Given the description of an element on the screen output the (x, y) to click on. 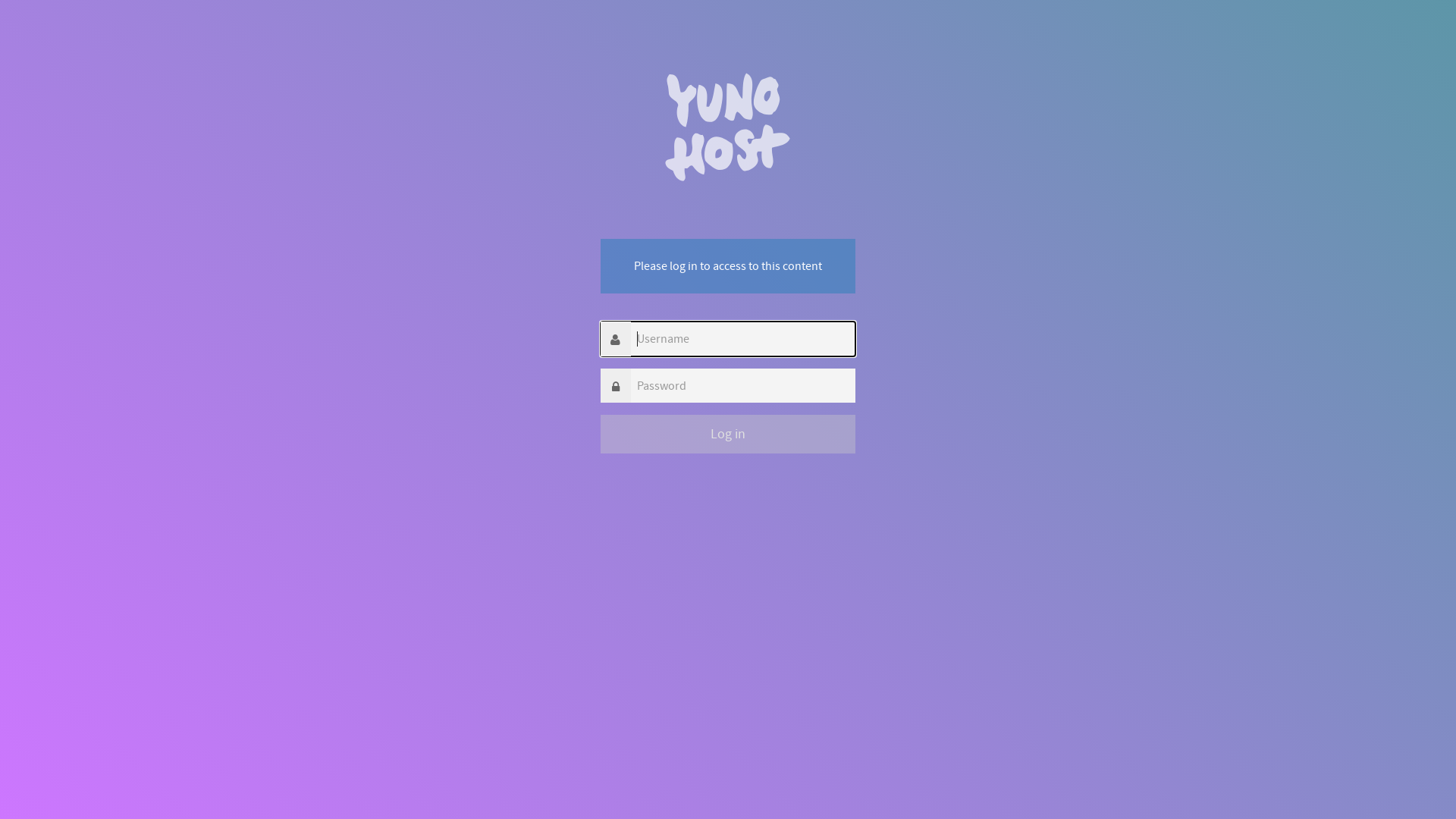
Log in Element type: text (727, 433)
